Given the description of an element on the screen output the (x, y) to click on. 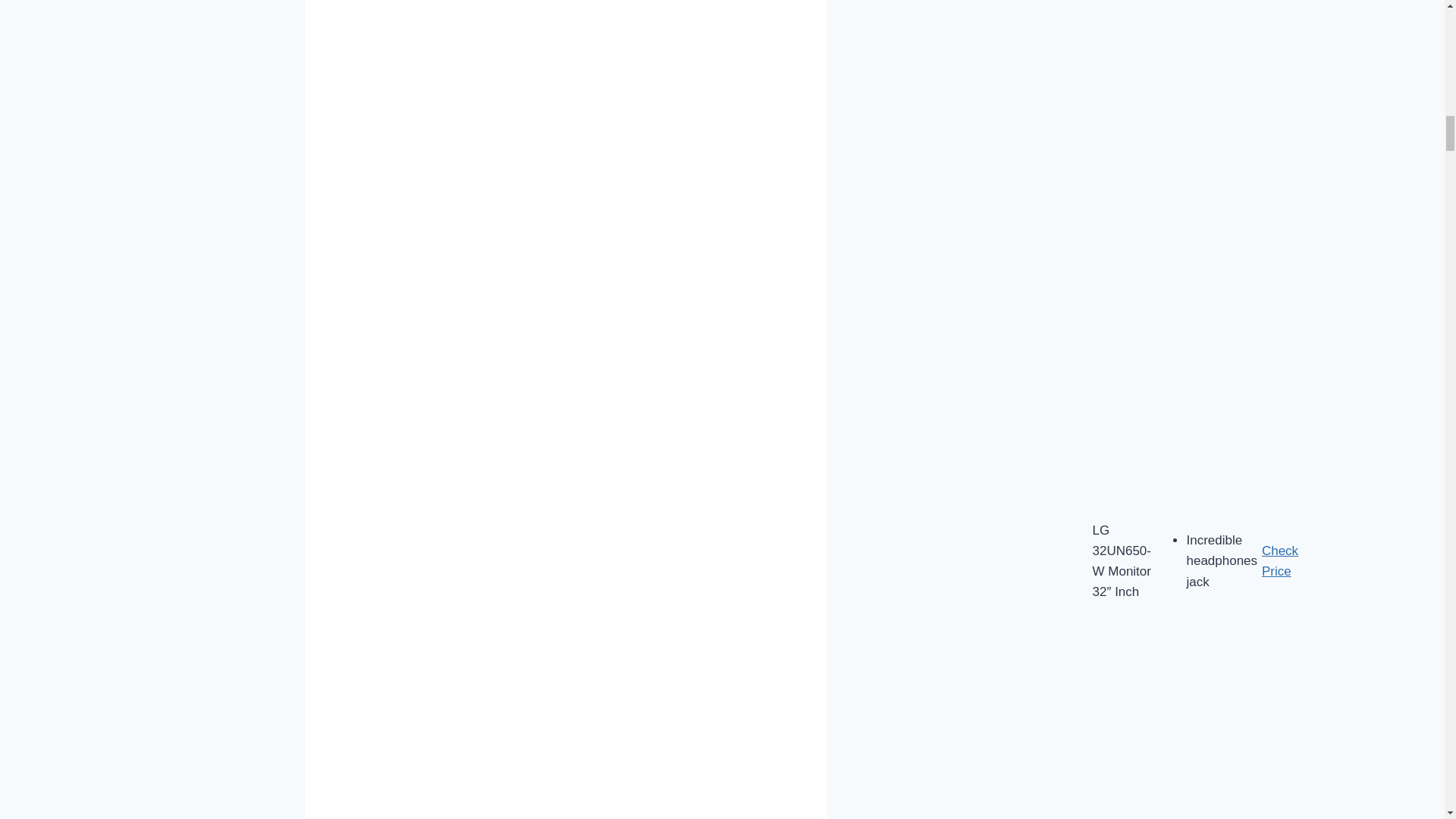
Check Price (1280, 560)
